Given the description of an element on the screen output the (x, y) to click on. 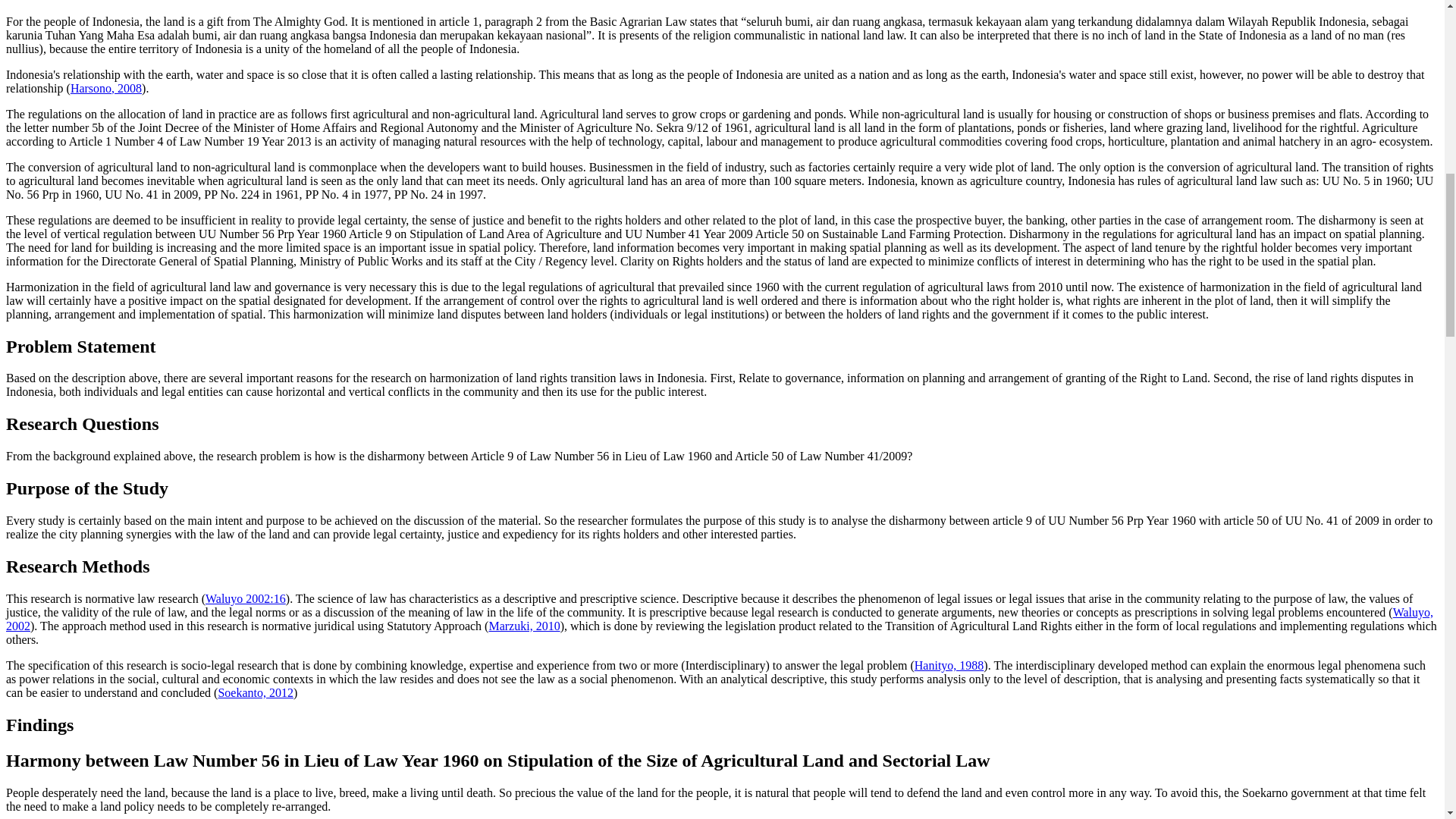
Soekanto, 2012 (255, 692)
Harsono, 2008 (105, 88)
Marzuki, 2010 (523, 625)
Hanityo, 1988 (949, 665)
Waluyo 2002:16 (245, 598)
